Given the description of an element on the screen output the (x, y) to click on. 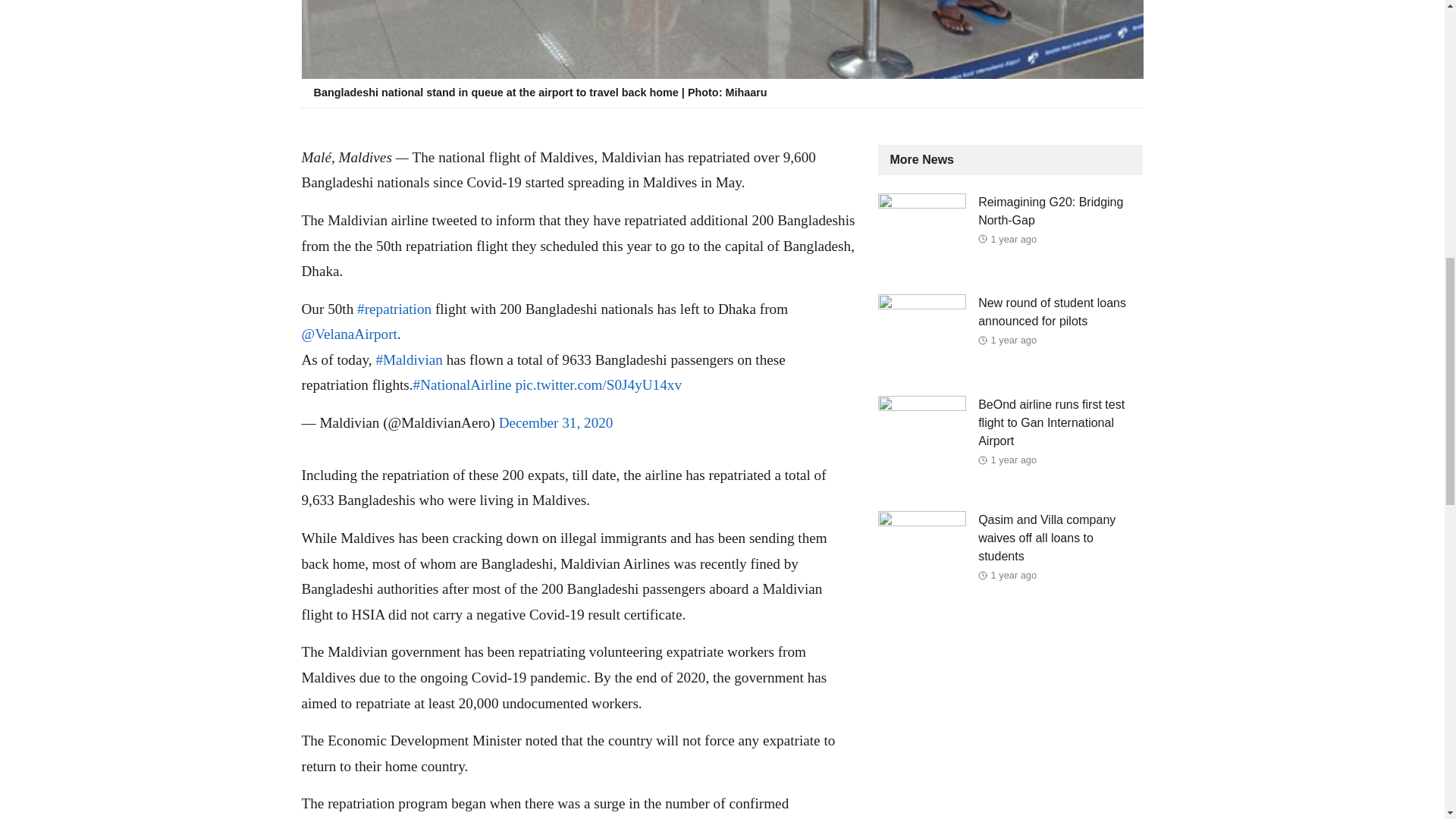
Aug 14, 2023, 18:11 (1013, 460)
Aug 15, 2023, 19:26 (1013, 238)
December 31, 2020 (555, 422)
Aug 10, 2023, 09:36 (1013, 574)
Aug 14, 2023, 18:18 (1013, 339)
